Given the description of an element on the screen output the (x, y) to click on. 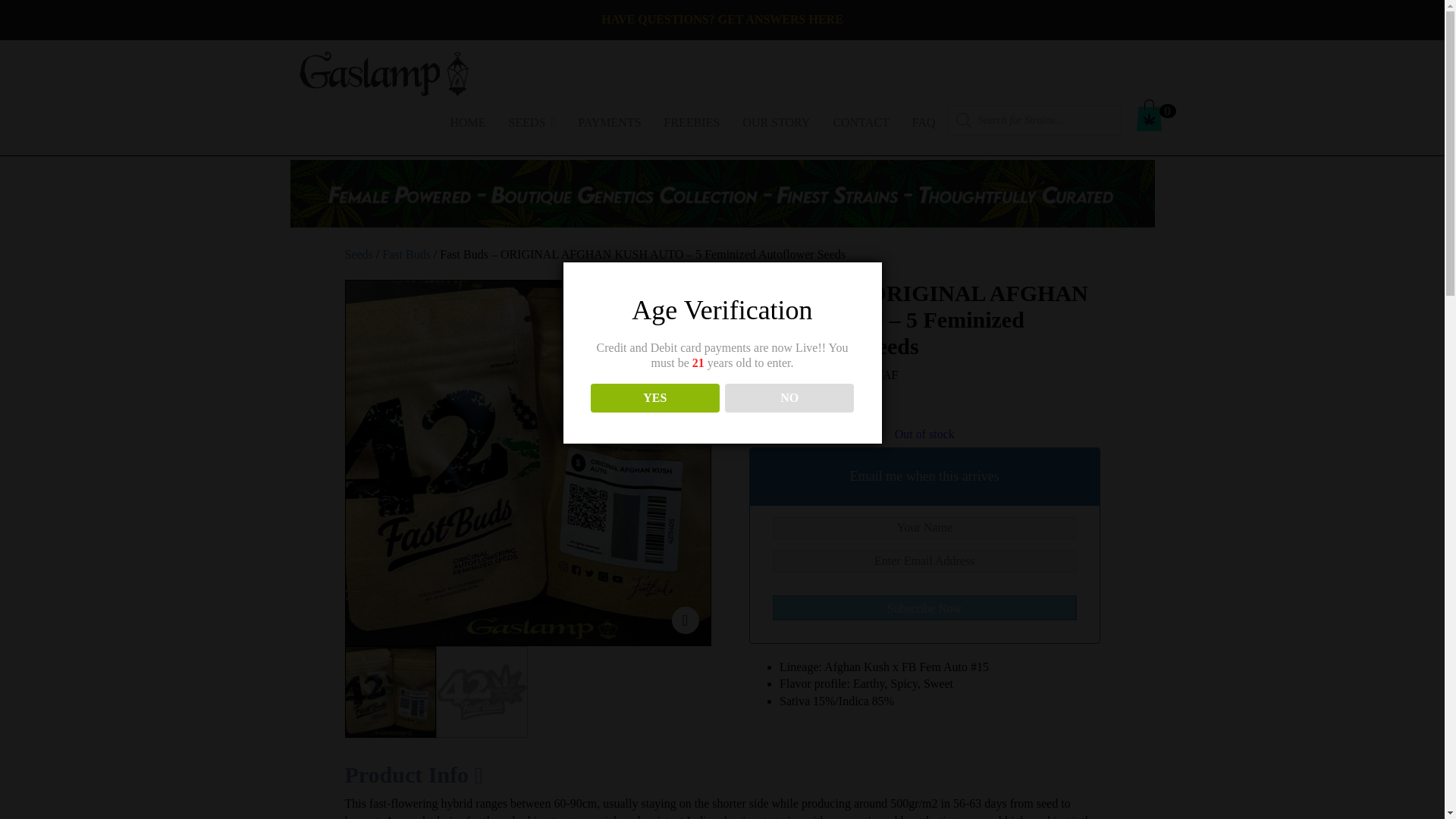
Our Story (775, 118)
HOME (467, 118)
Payments (609, 118)
Freebies (692, 118)
FAQ (924, 118)
FREEBIES (692, 118)
HAVE QUESTIONS? GET ANSWERS HERE (722, 19)
Subscribe Now (924, 607)
FAQ (924, 118)
Seeds (531, 118)
